Given the description of an element on the screen output the (x, y) to click on. 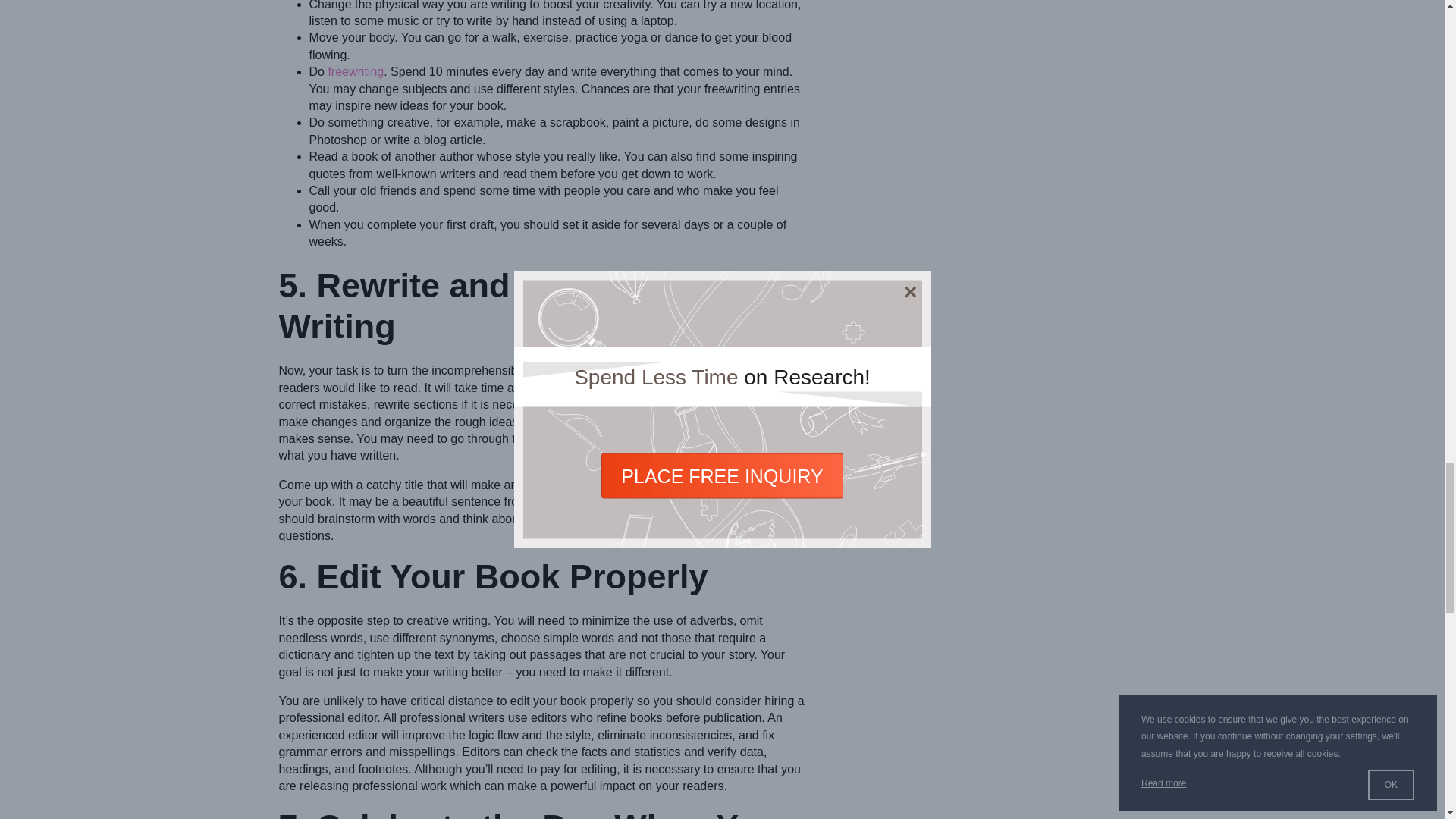
freewriting (355, 71)
